Given the description of an element on the screen output the (x, y) to click on. 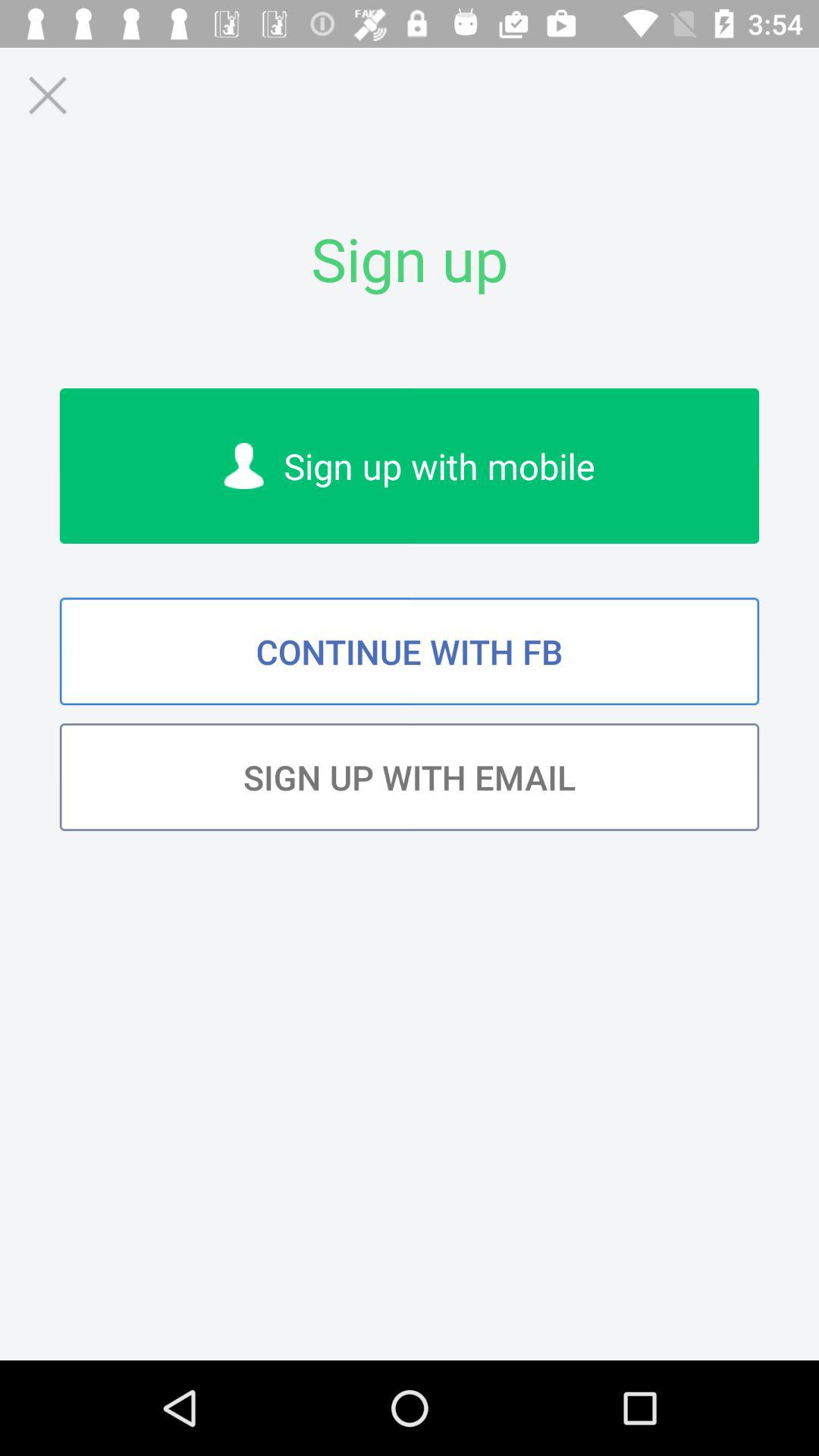
launch icon above the sign up (47, 95)
